Given the description of an element on the screen output the (x, y) to click on. 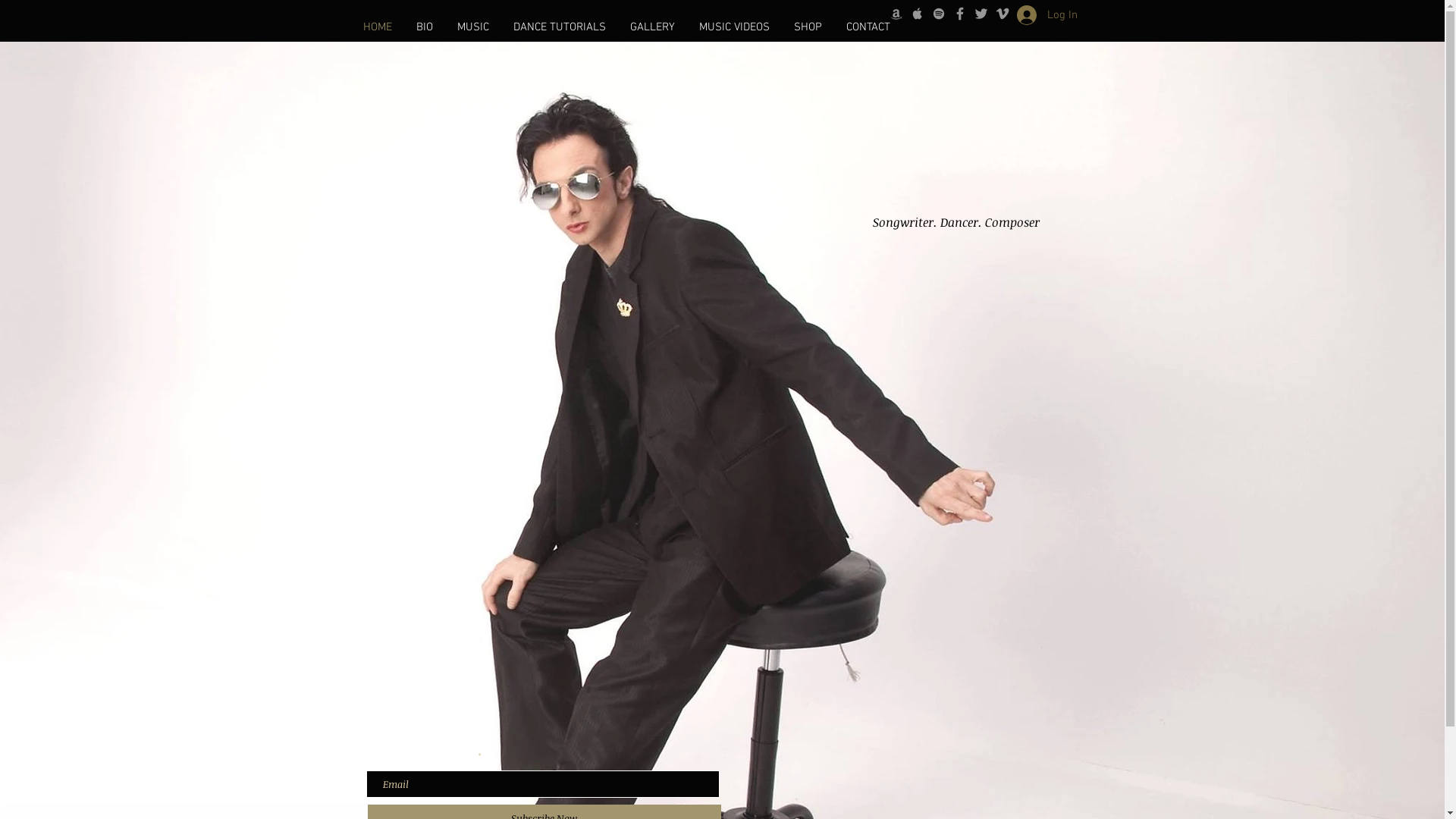
DANCE TUTORIALS Element type: text (558, 27)
CONTACT Element type: text (868, 27)
MUSIC Element type: text (472, 27)
GALLERY Element type: text (651, 27)
SHOP Element type: text (807, 27)
HOME Element type: text (376, 27)
BIO Element type: text (423, 27)
Log In Element type: text (1046, 14)
MUSIC VIDEOS Element type: text (734, 27)
